Given the description of an element on the screen output the (x, y) to click on. 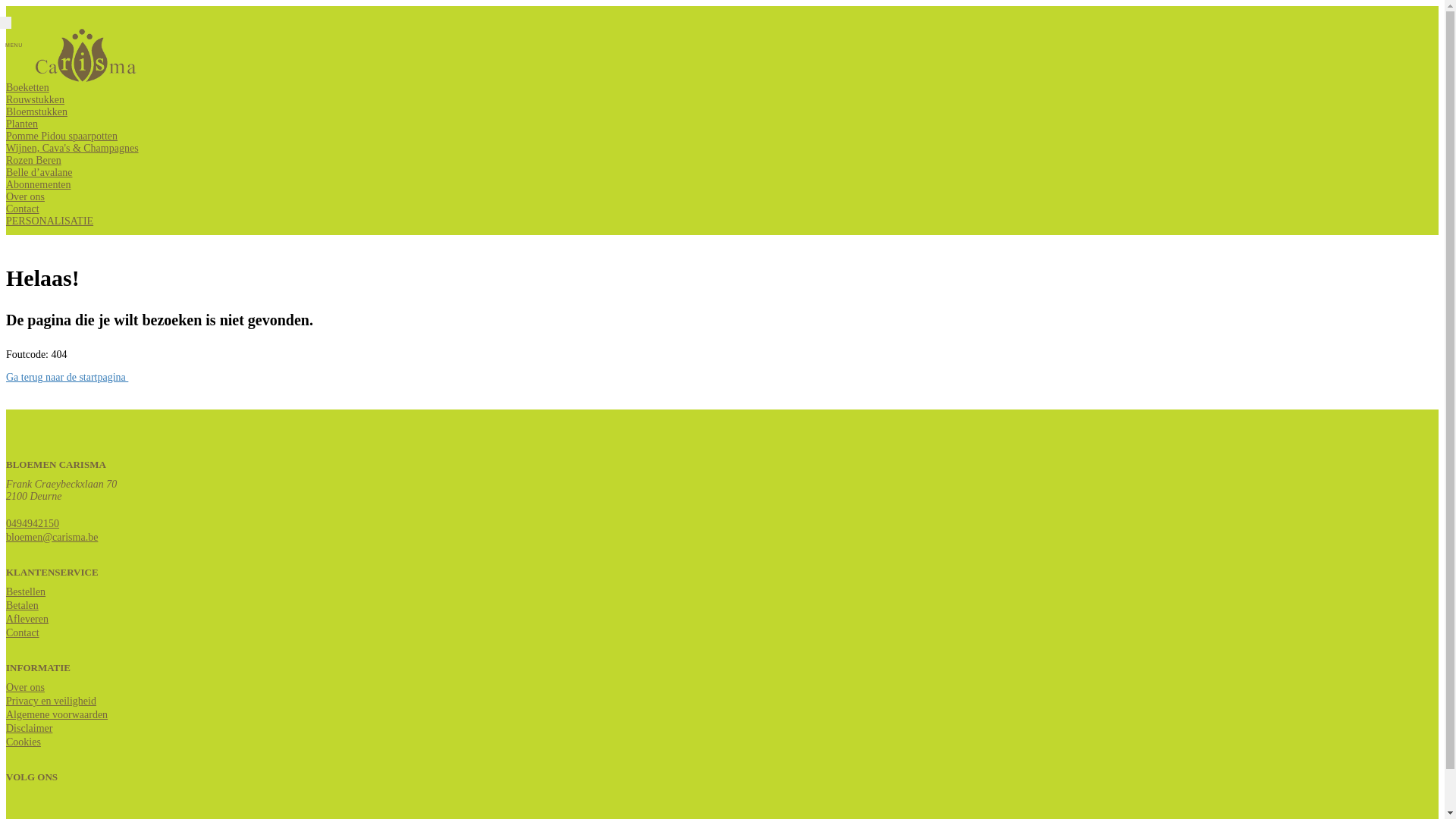
Betalen Element type: text (22, 605)
Rozen Beren Element type: text (33, 160)
0494942150 Element type: text (32, 523)
Over ons Element type: text (25, 687)
bloemen@carisma.be Element type: text (51, 536)
Ga terug naar de startpagina  Element type: text (67, 376)
Boeketten Element type: text (27, 87)
Wijnen, Cava's & Champagnes Element type: text (72, 147)
Afleveren Element type: text (27, 618)
PERSONALISATIE Element type: text (49, 220)
Bloemstukken Element type: text (36, 111)
Bestellen Element type: text (25, 591)
Rouwstukken Element type: text (35, 99)
Contact Element type: text (22, 632)
Cookies Element type: text (23, 741)
Abonnementen Element type: text (38, 184)
Privacy en veiligheid Element type: text (51, 700)
Over ons Element type: text (25, 196)
Disclaimer Element type: text (29, 728)
Contact Element type: text (22, 208)
Planten Element type: text (21, 123)
Algemene voorwaarden Element type: text (56, 714)
Pomme Pidou spaarpotten Element type: text (61, 135)
